Given the description of an element on the screen output the (x, y) to click on. 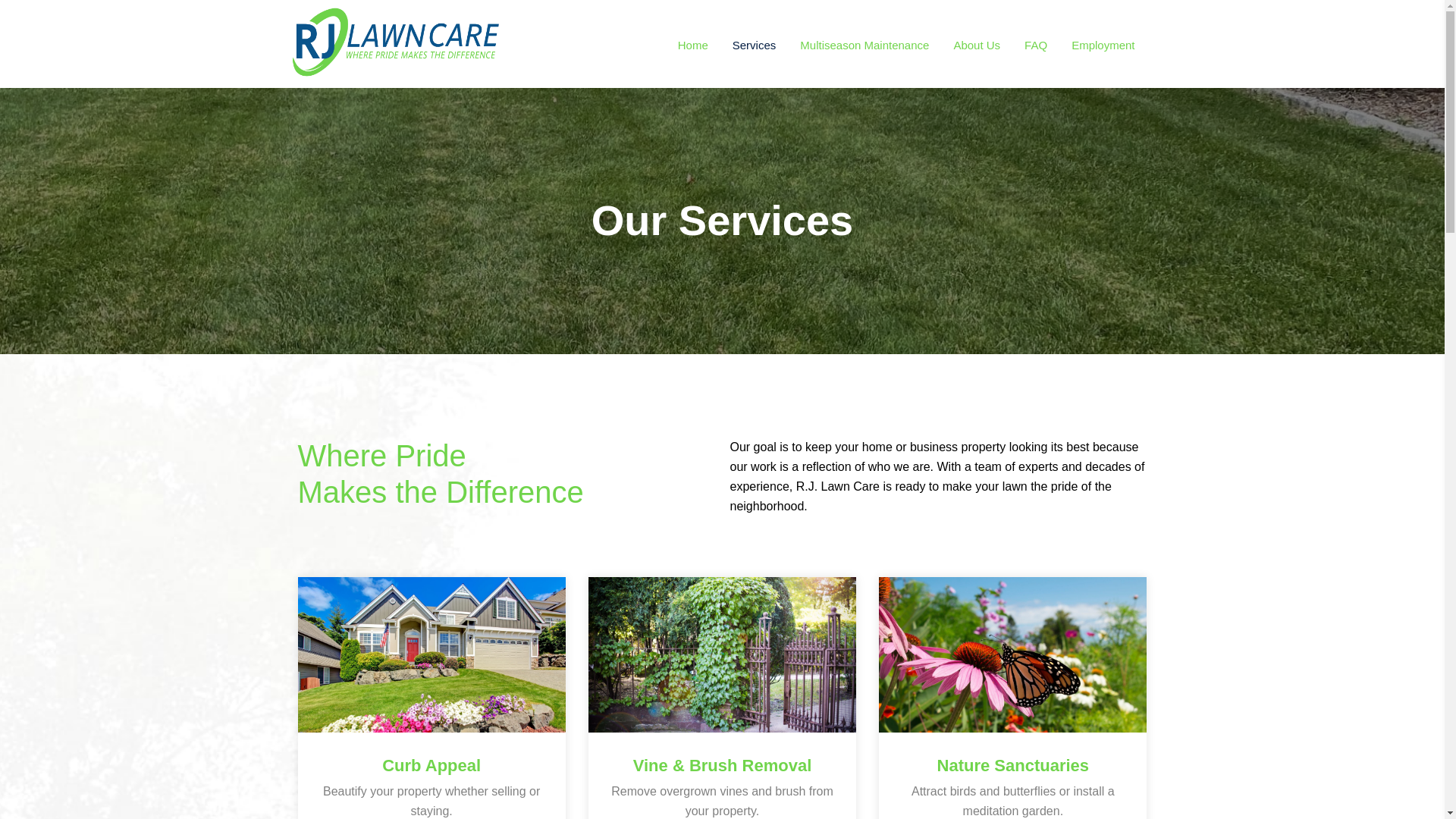
Nature Sanctuaries (1012, 765)
Employment (1103, 45)
Services (754, 45)
About Us (975, 45)
About Us (975, 45)
Services (754, 45)
Employment (1103, 45)
Curb Appeal (430, 765)
Multiseason Maintenance (863, 45)
Multiseason Maintenance (863, 45)
